Given the description of an element on the screen output the (x, y) to click on. 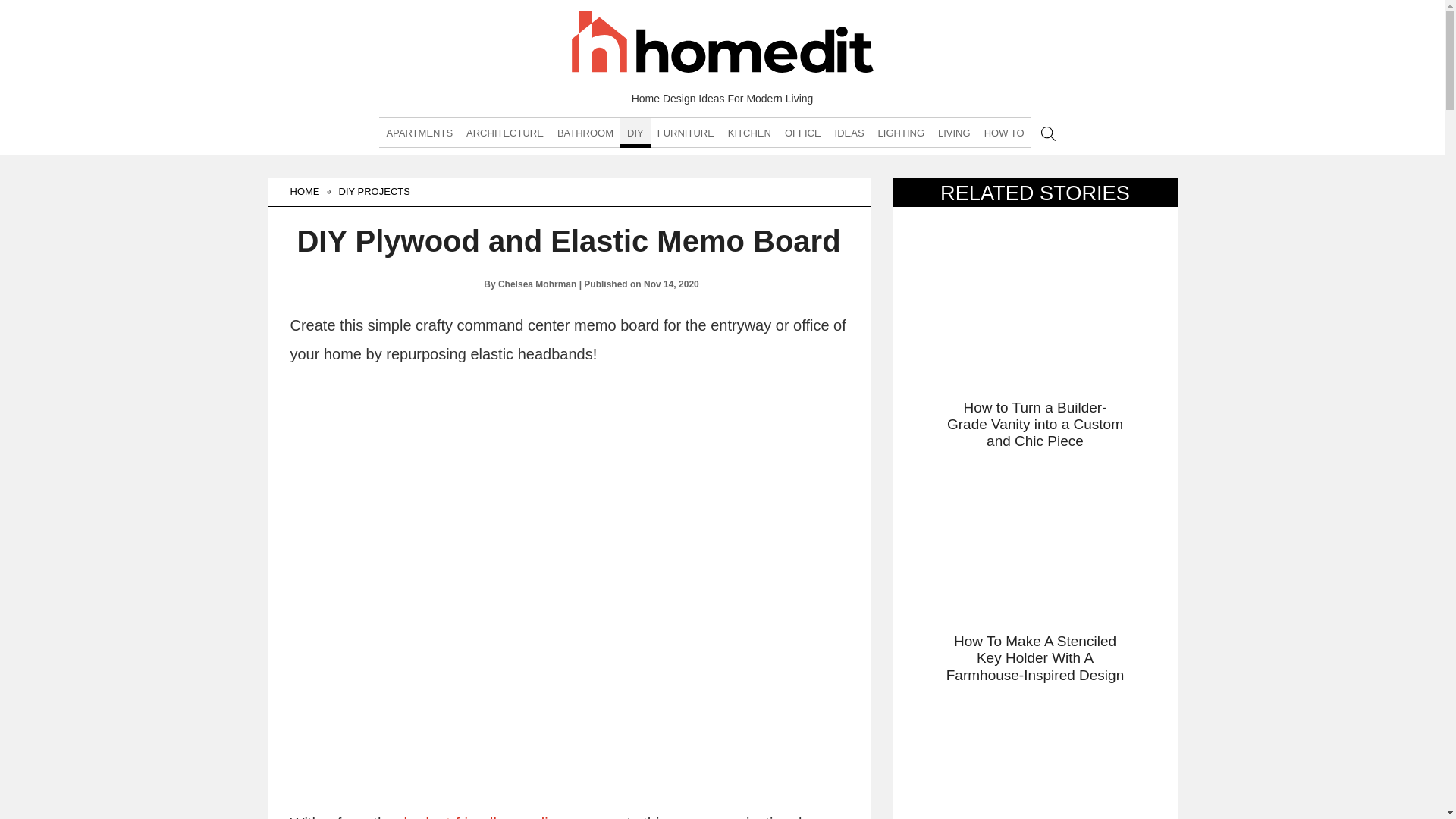
OFFICE (802, 132)
Chelsea Mohrman (453, 284)
Chelsea Mohrman (536, 284)
LIGHTING (900, 132)
LIVING (953, 132)
IDEAS (849, 132)
BATHROOM (585, 132)
DIY (635, 132)
